Given the description of an element on the screen output the (x, y) to click on. 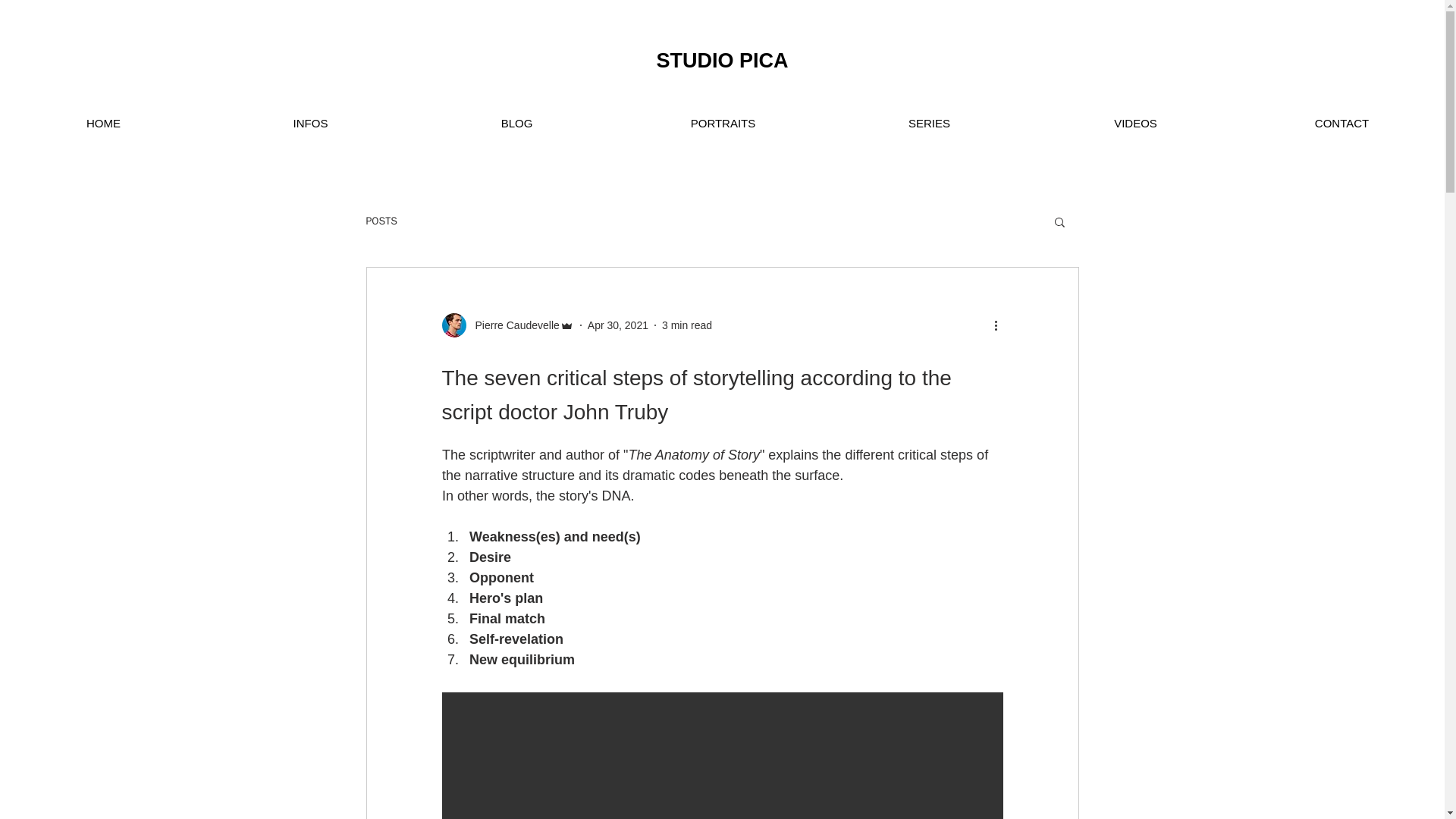
3 min read (686, 324)
BLOG (516, 123)
Apr 30, 2021 (617, 324)
STUDIO PICA (721, 60)
INFOS (309, 123)
POSTS (380, 221)
HOME (103, 123)
Pierre Caudevelle (512, 324)
Pierre Caudevelle (507, 324)
